Given the description of an element on the screen output the (x, y) to click on. 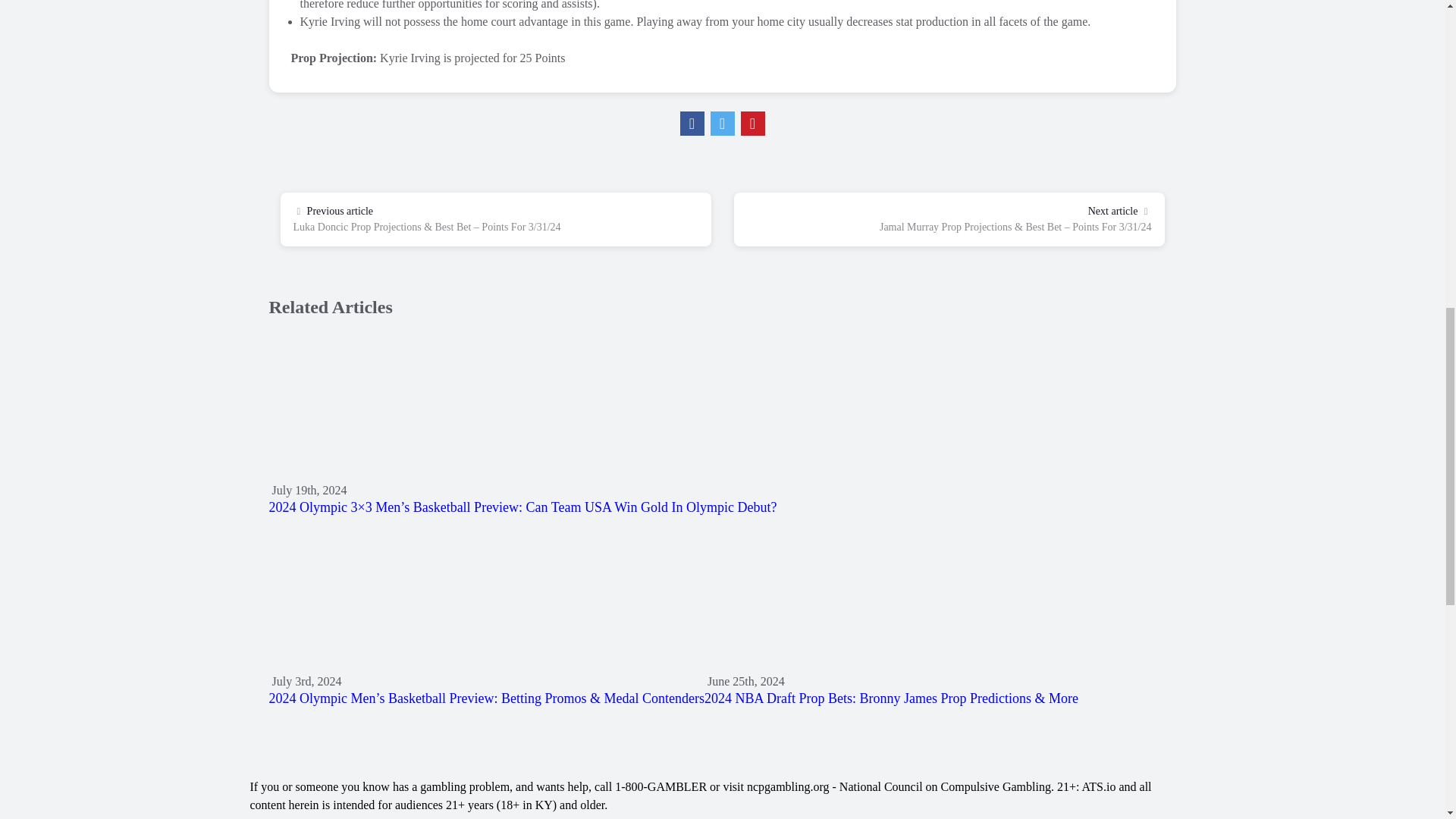
Share on Twitter (721, 123)
Share on Pinterest (751, 123)
Share on Facebook (691, 123)
